Given the description of an element on the screen output the (x, y) to click on. 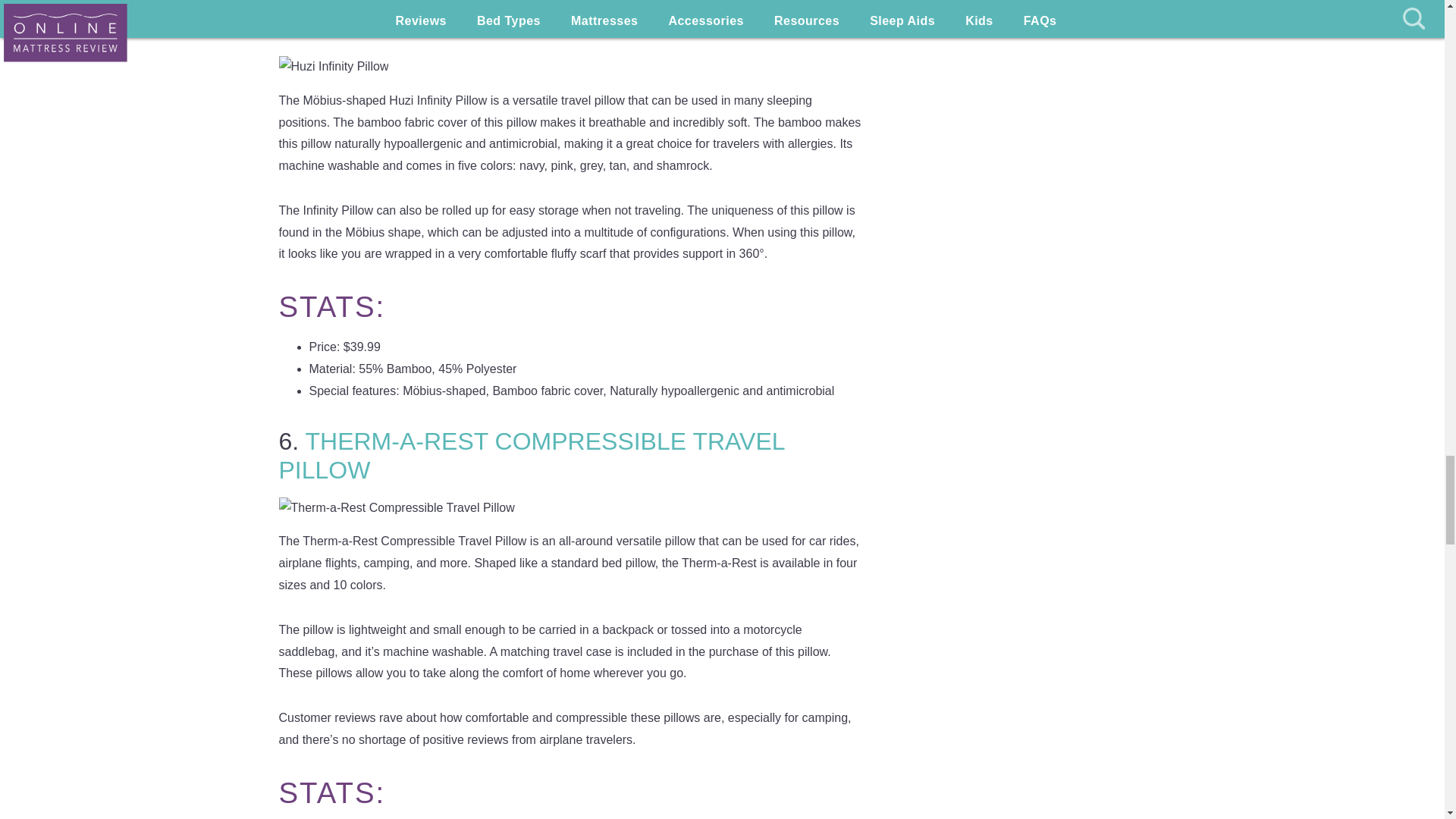
HUZI INFINITY PILLOW (436, 29)
THERM-A-REST COMPRESSIBLE TRAVEL PILLOW (531, 455)
